Given the description of an element on the screen output the (x, y) to click on. 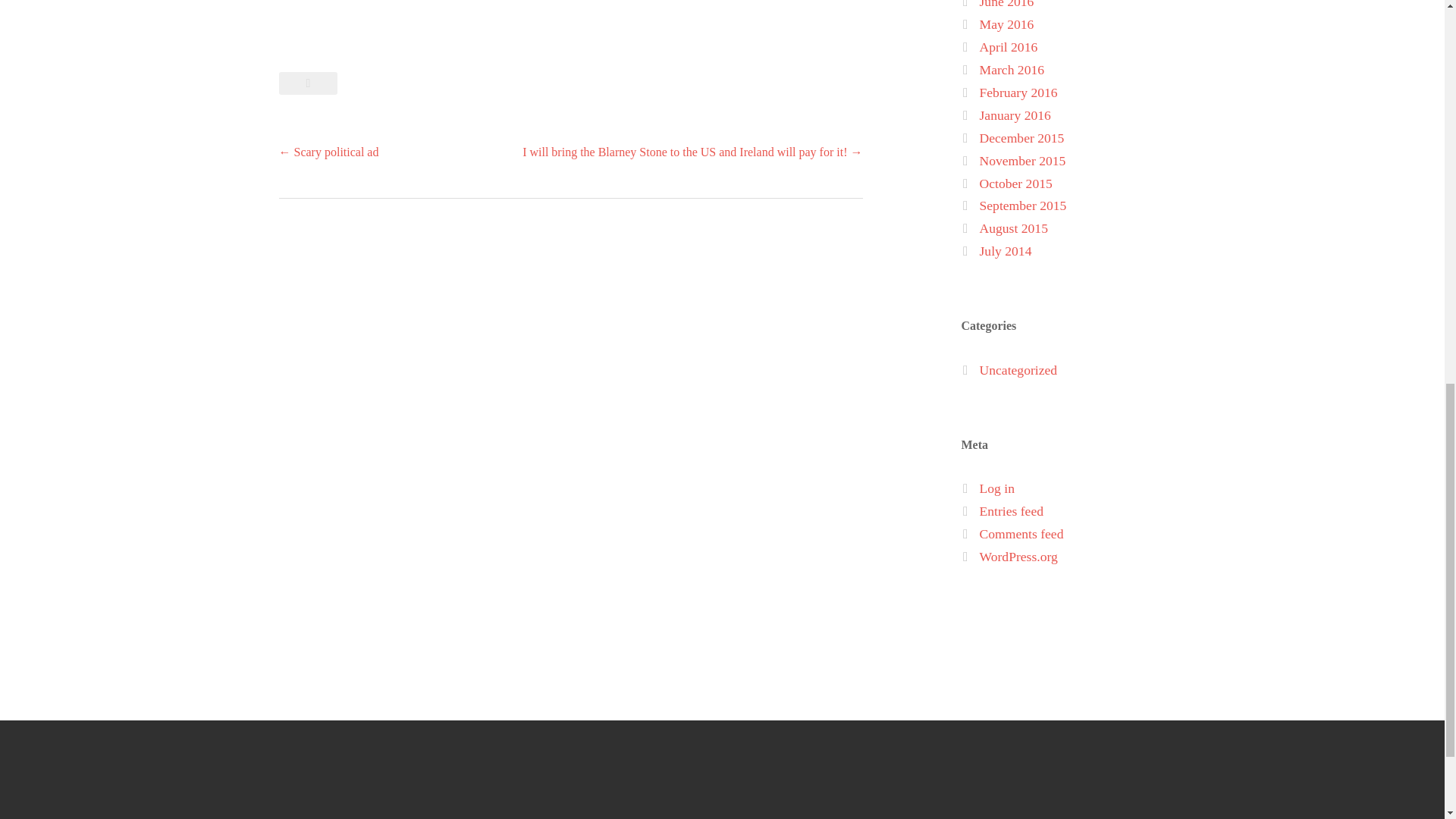
March 2016 (1012, 69)
January 2016 (1015, 114)
September 2015 (1023, 205)
April 2016 (1008, 46)
December 2015 (1021, 137)
June 2016 (1006, 4)
July 2014 (1005, 250)
May 2016 (1006, 23)
Log in (996, 488)
October 2015 (1015, 183)
February 2016 (1018, 92)
August 2015 (1013, 227)
November 2015 (1022, 160)
Uncategorized (1018, 369)
